Given the description of an element on the screen output the (x, y) to click on. 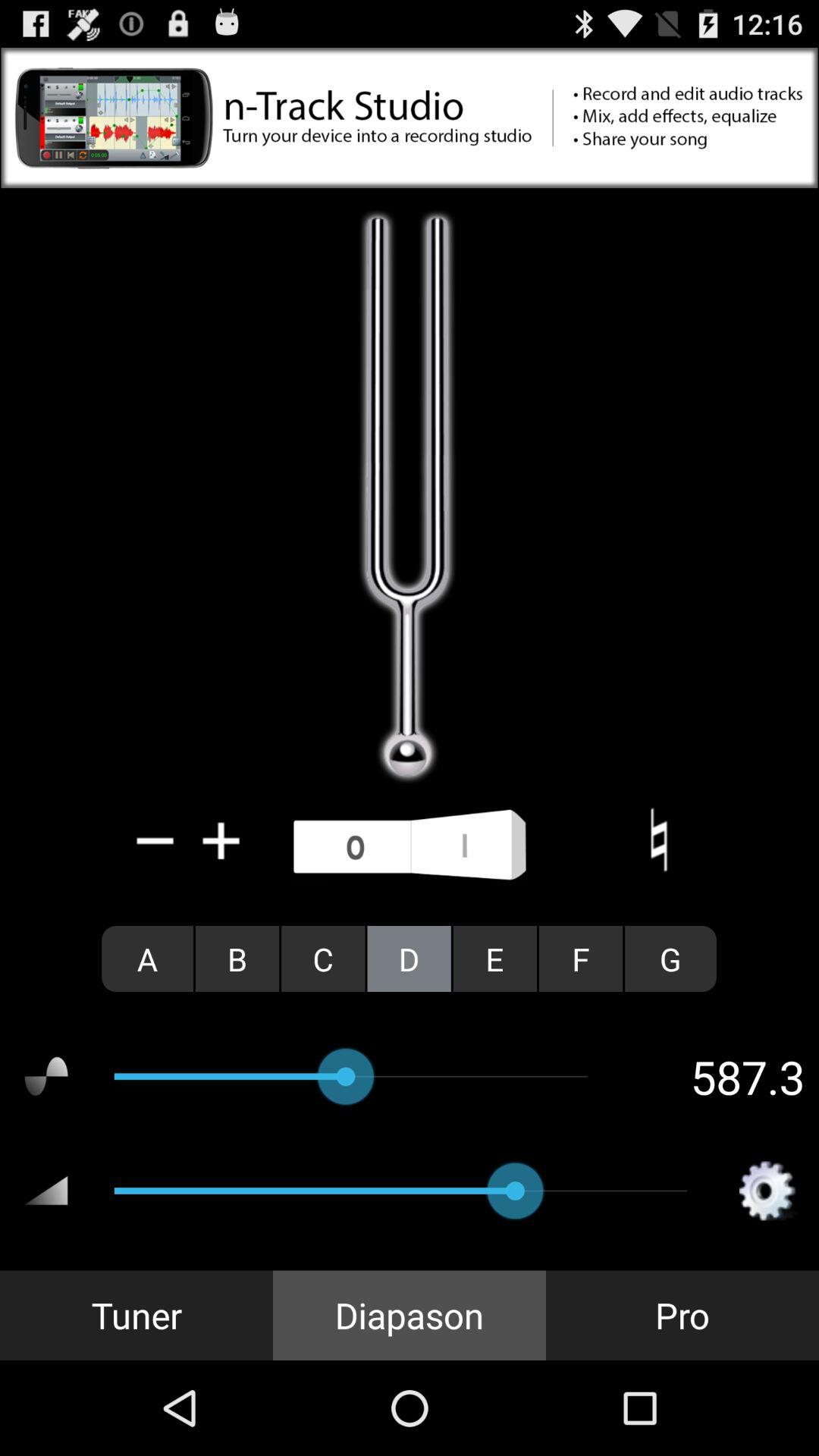
activate tuner (409, 846)
